Given the description of an element on the screen output the (x, y) to click on. 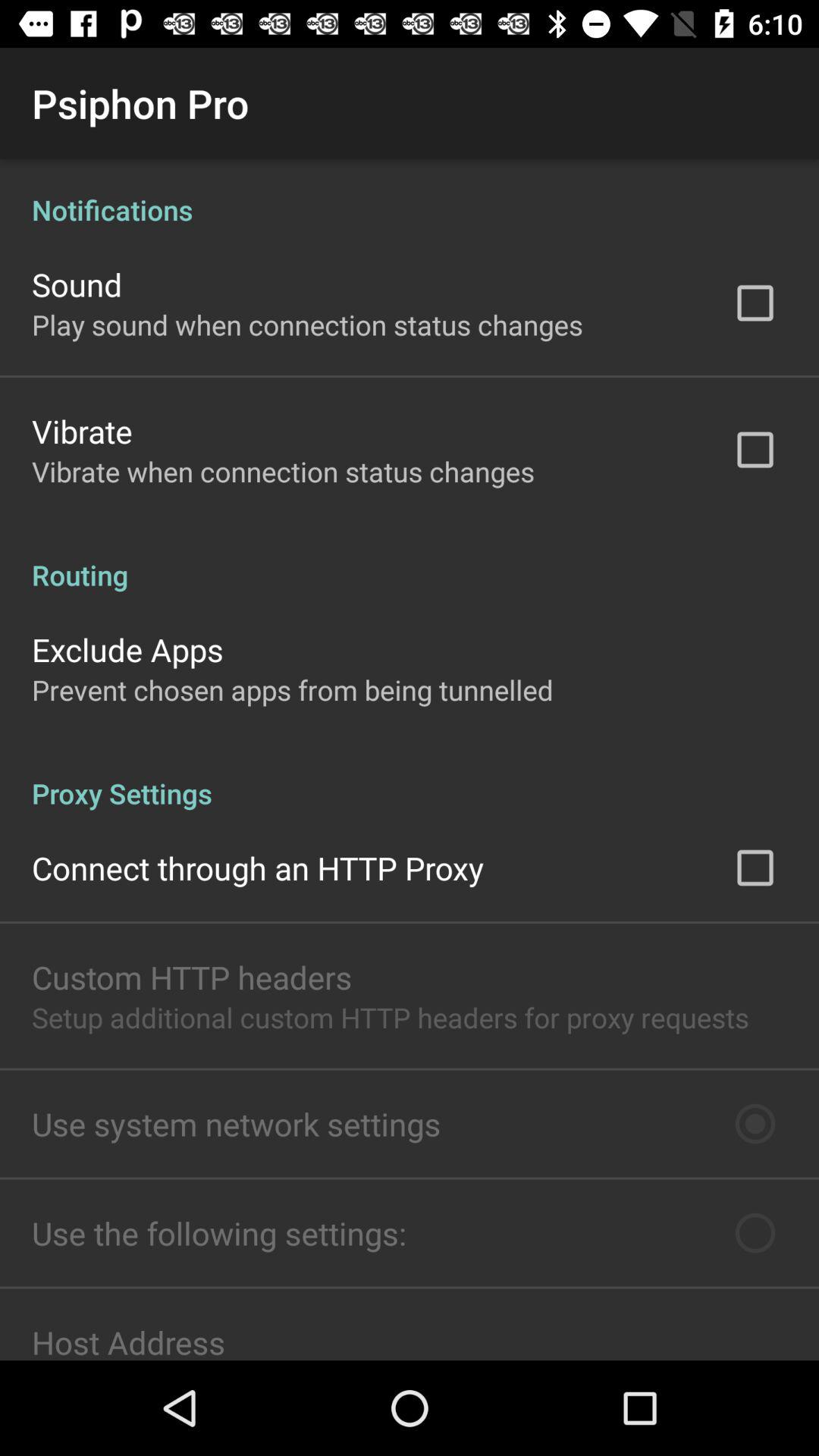
launch item below use the following icon (128, 1340)
